Given the description of an element on the screen output the (x, y) to click on. 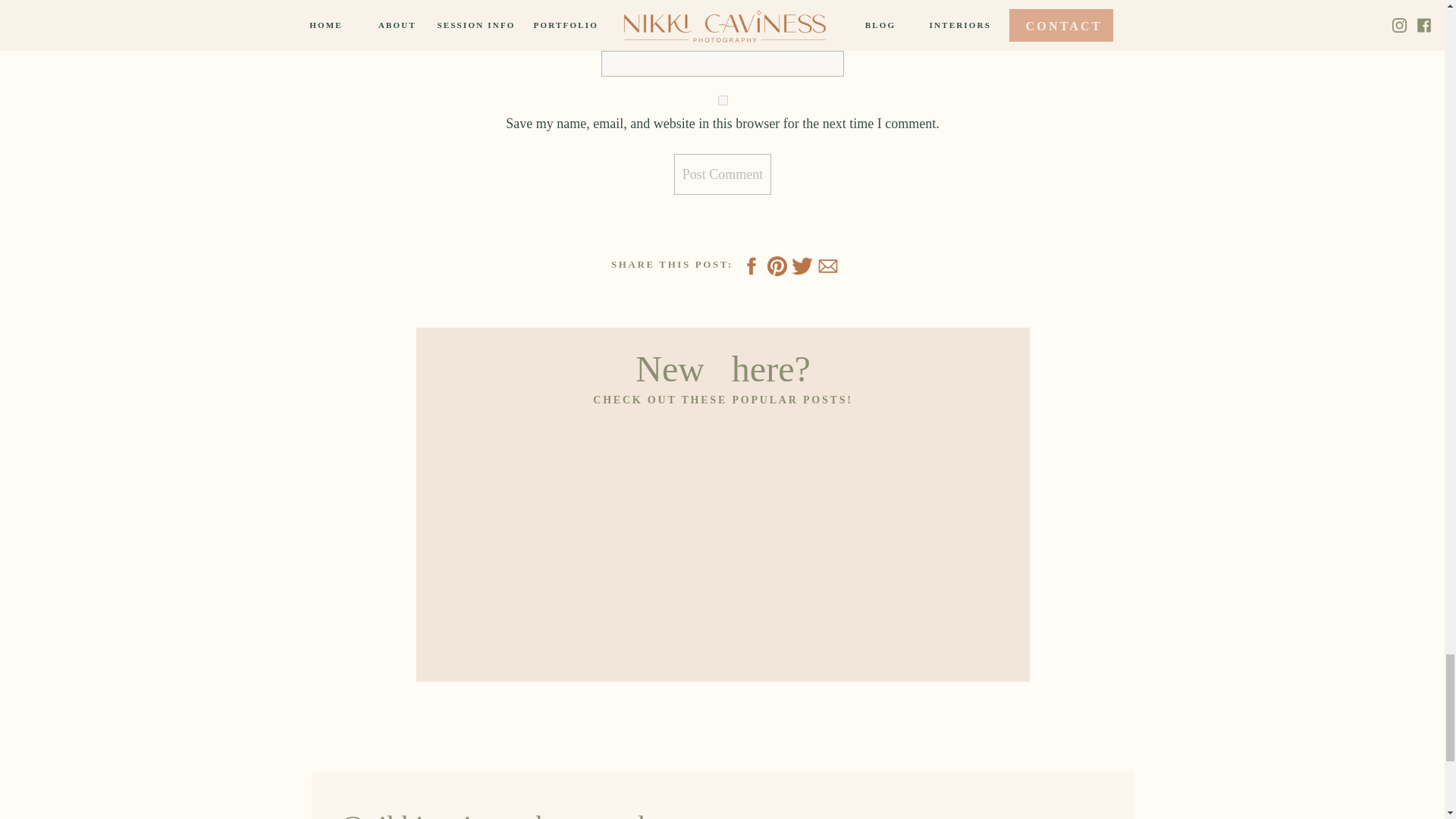
Post Comment (722, 173)
yes (722, 100)
